Given the description of an element on the screen output the (x, y) to click on. 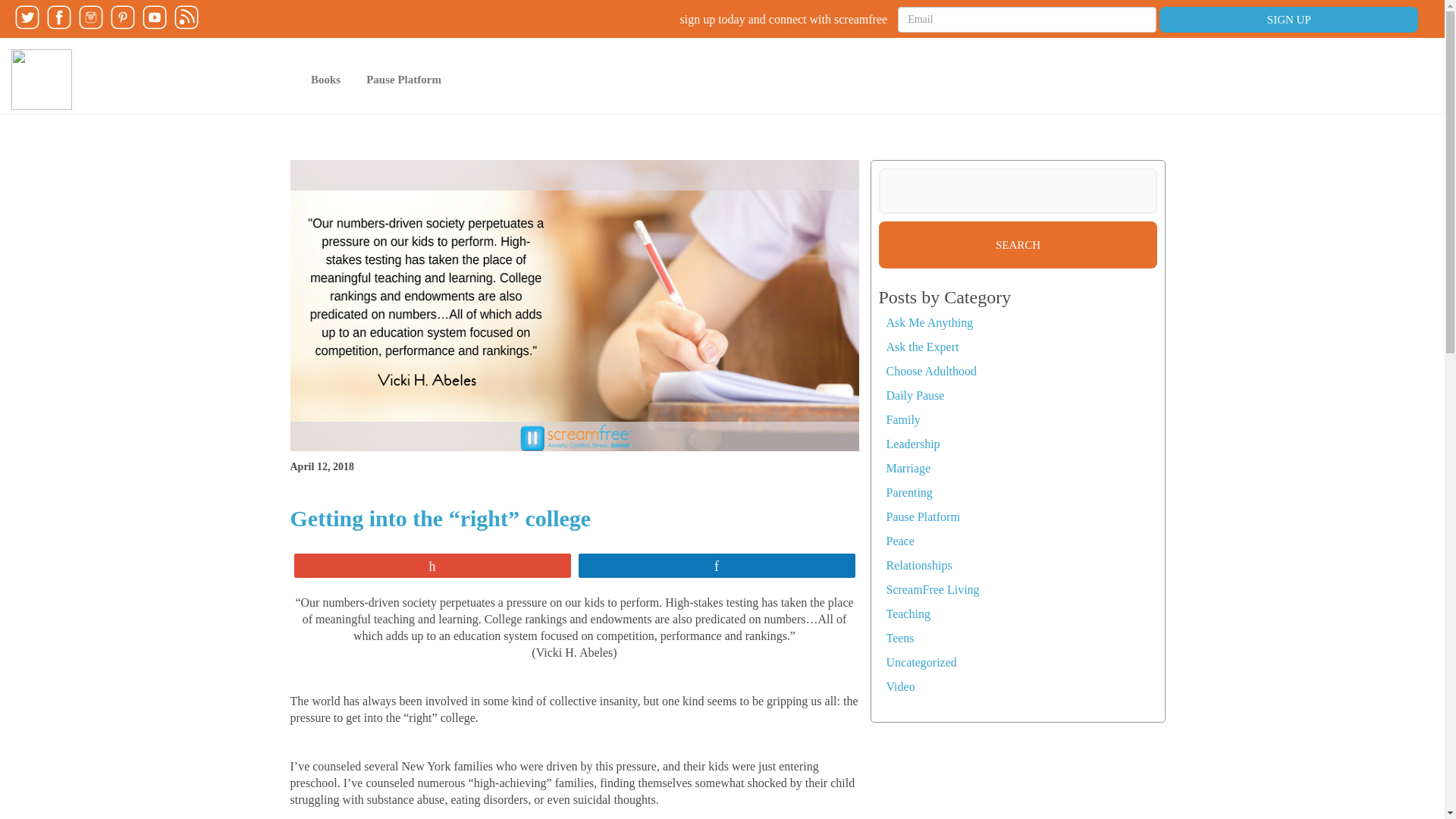
Marriage (907, 468)
Pause Platform (403, 79)
Search (1017, 244)
Uncategorized (920, 662)
Leadership (912, 443)
Relationships (918, 564)
Ask Me Anything (928, 322)
Pause Platform (403, 79)
Teaching (907, 613)
Books (325, 79)
ScreamFree Living (931, 589)
Parenting (908, 492)
Family (902, 419)
Choose Adulthood (930, 370)
Pause Platform (922, 516)
